Given the description of an element on the screen output the (x, y) to click on. 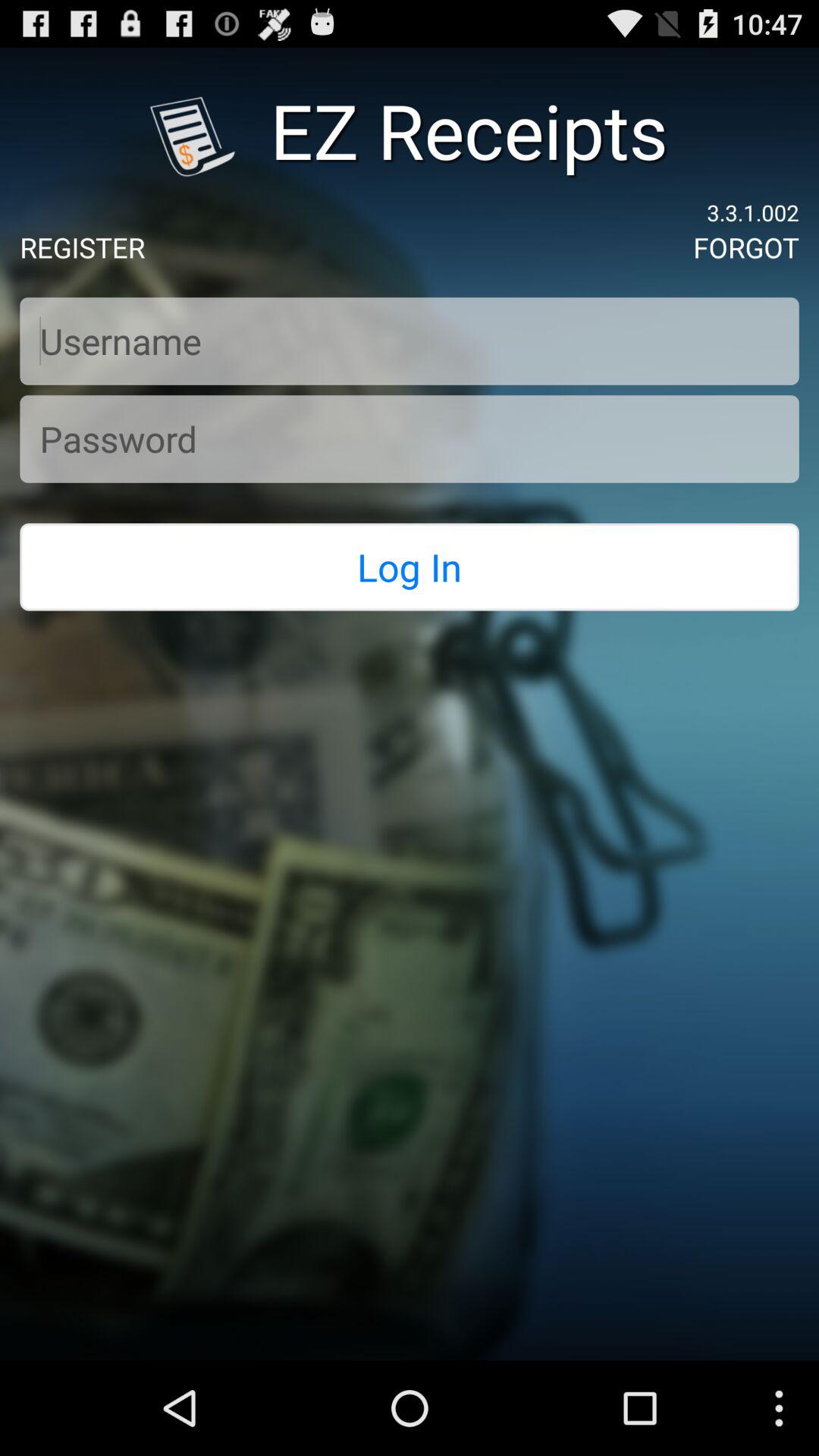
scroll until register item (82, 247)
